Given the description of an element on the screen output the (x, y) to click on. 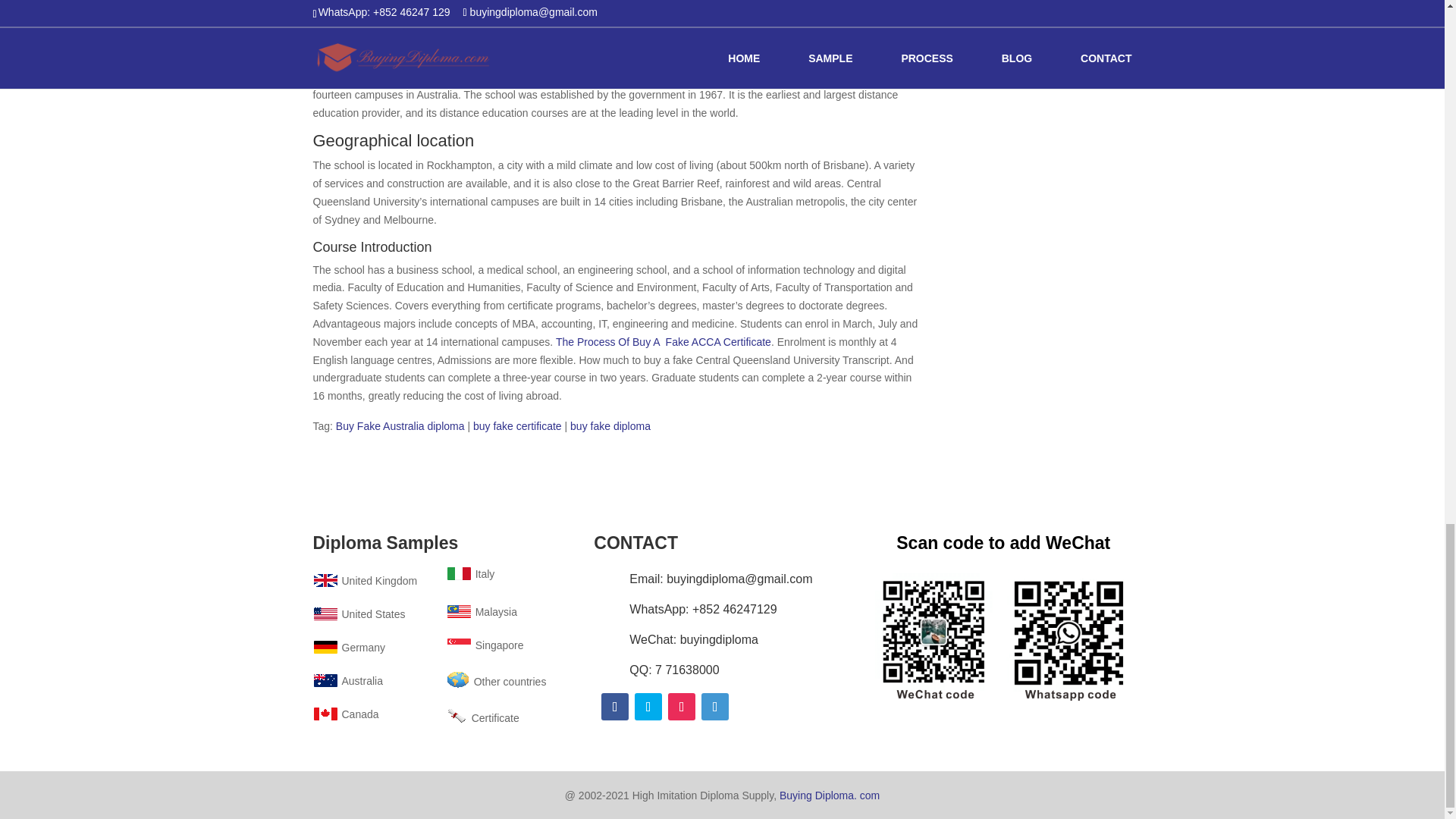
United Kingdom (364, 581)
Follow on Instagram (681, 706)
Follow on QQ (715, 706)
Wecha-code (1003, 636)
buy fake diploma (610, 426)
Follow on Twitter (648, 706)
Buy Fake Australia diploma (400, 426)
buy fake certificate (517, 426)
The Process Of Buy A  Fake ACCA Certificate (663, 341)
Follow on Facebook (614, 706)
